Given the description of an element on the screen output the (x, y) to click on. 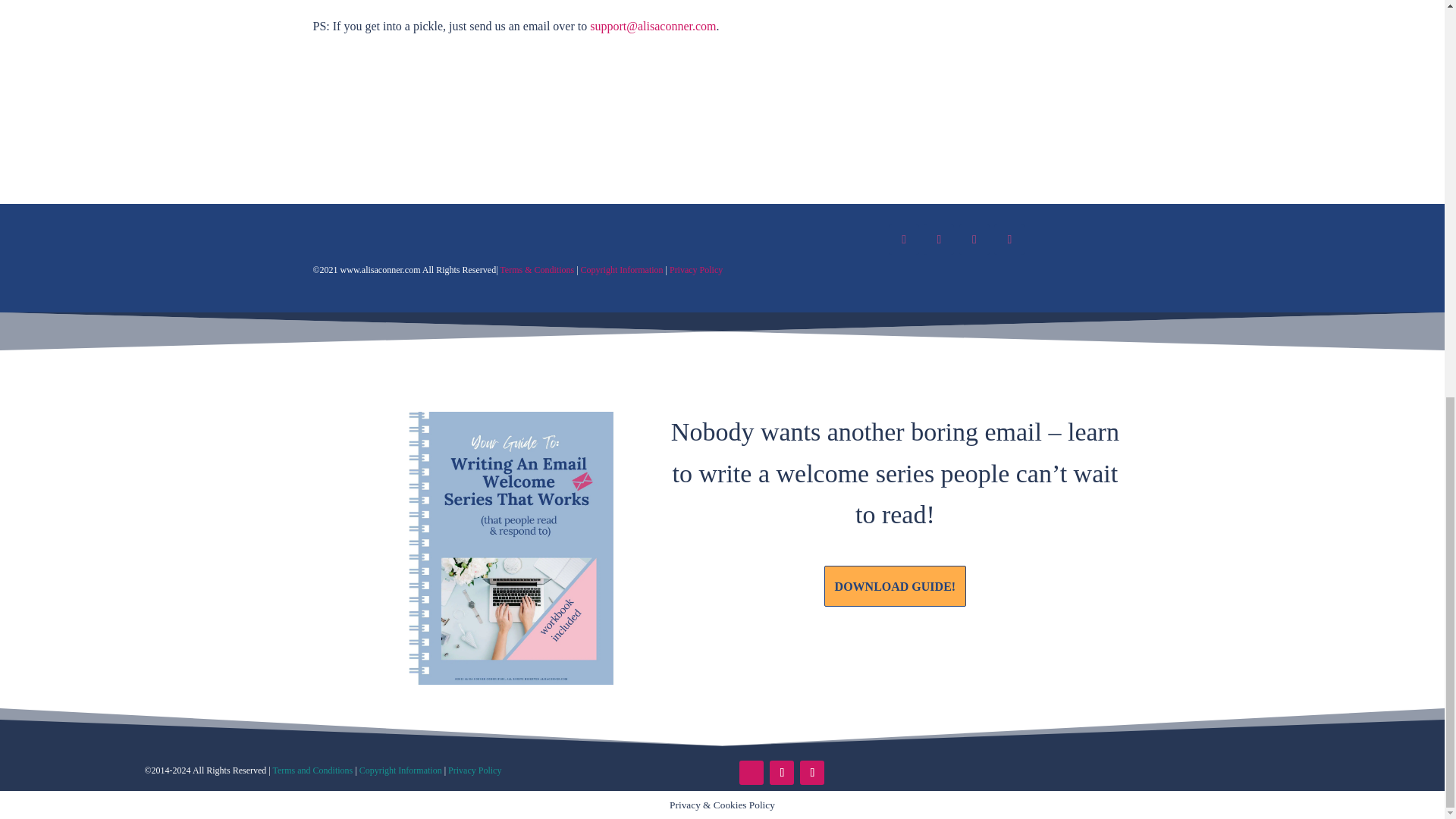
Follow on dbdb-podcast (750, 772)
Privacy Policy (474, 769)
Terms and Conditions (312, 769)
Follow on Instagram (781, 772)
Privacy Policy (695, 269)
Follow on LinkedIn (811, 772)
Copyright Information  (622, 269)
DOWNLOAD GUIDE! (895, 585)
Copyright Information (400, 769)
